Given the description of an element on the screen output the (x, y) to click on. 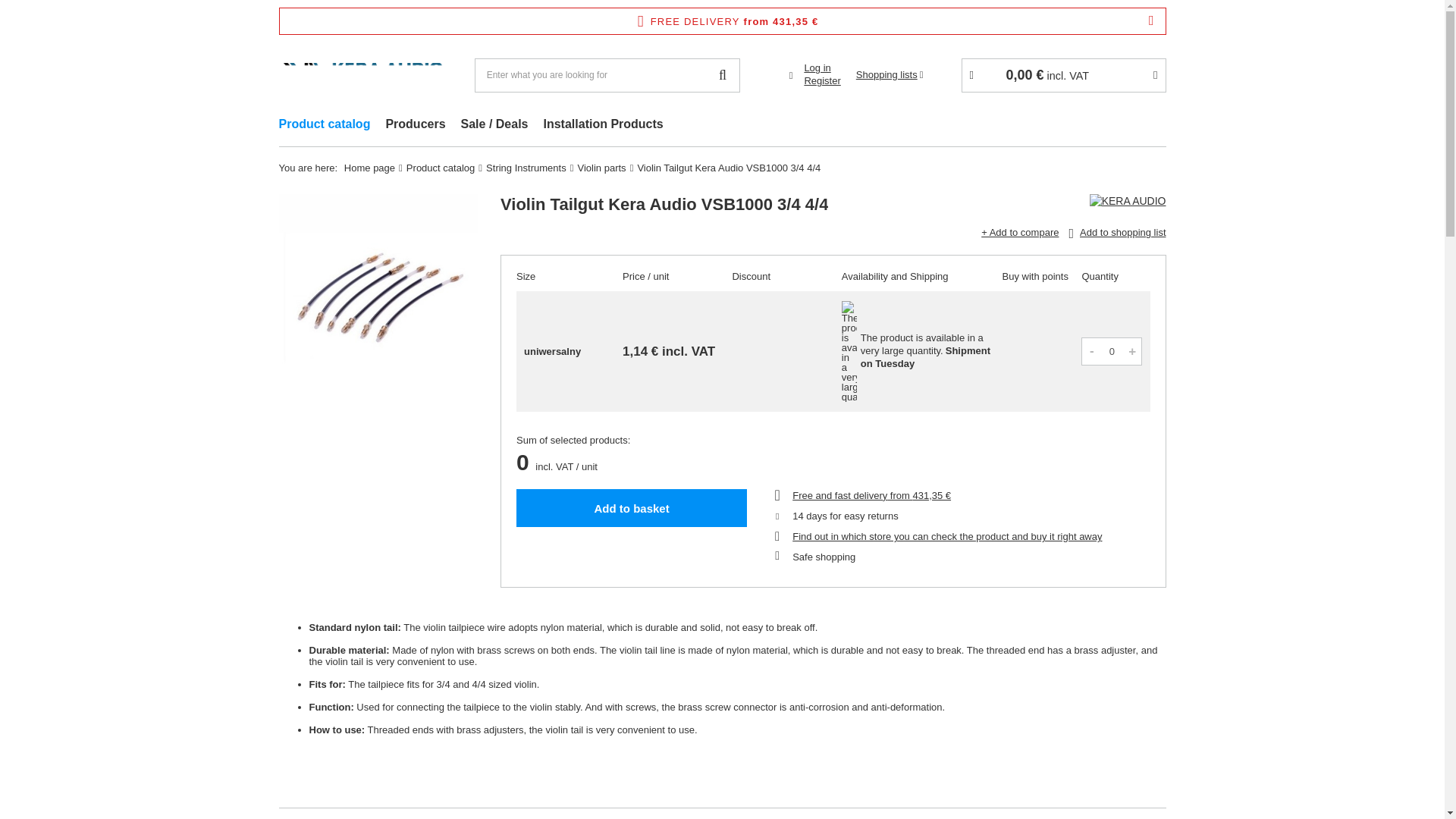
Product catalog (324, 125)
Product catalog (324, 125)
Register (821, 81)
Shopping lists (889, 74)
Log in (821, 68)
